Given the description of an element on the screen output the (x, y) to click on. 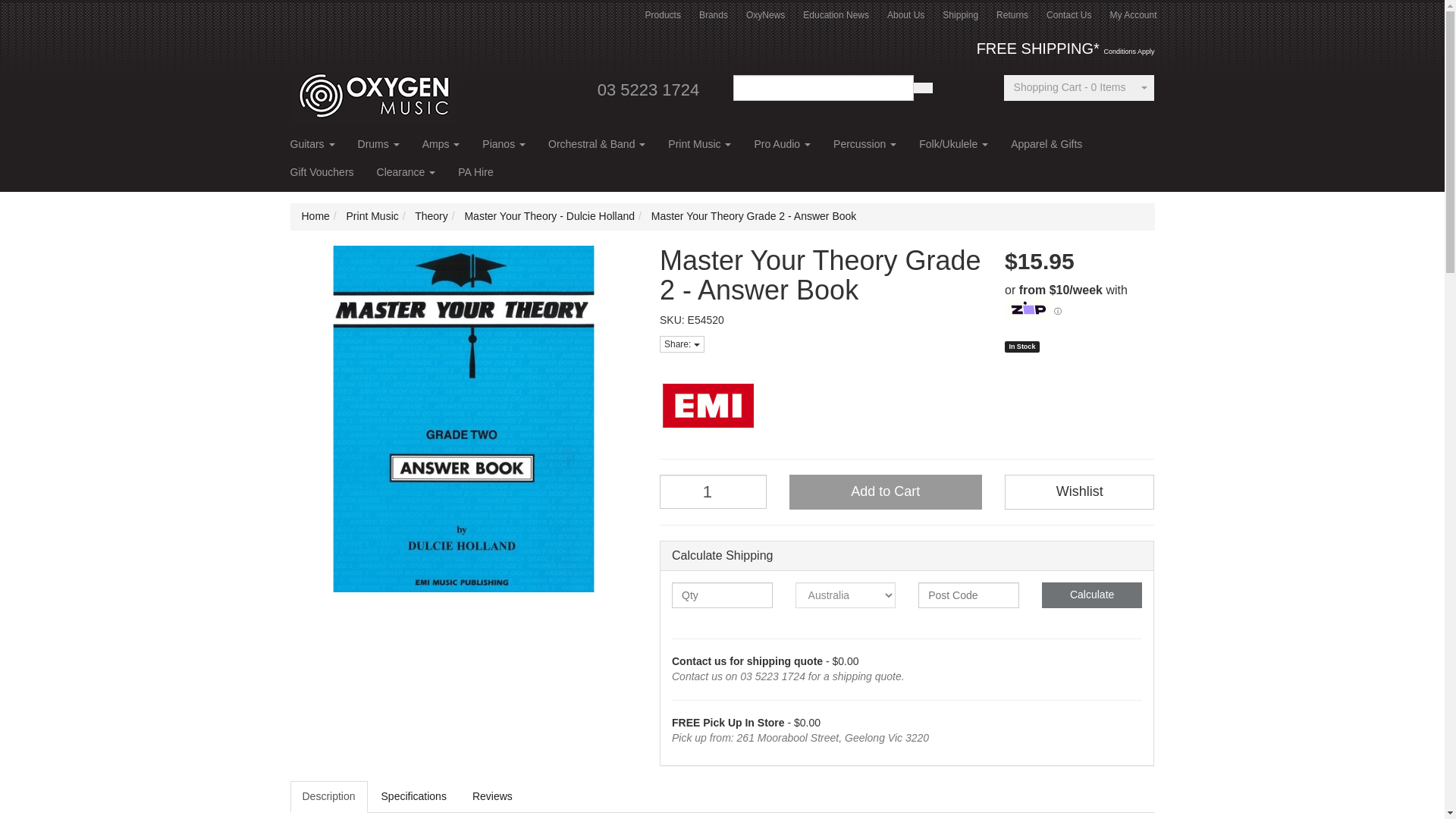
Search (922, 87)
Shipping (960, 15)
EMI (906, 405)
Products (663, 15)
Guitars (312, 148)
Shopping Cart - 0 Items (1069, 87)
Add to Cart (885, 492)
Returns (1011, 15)
Contact Us (1068, 15)
Brands (713, 15)
1 (713, 491)
Oxygen Music (373, 90)
Calculate (1092, 595)
My Account (1133, 15)
Education News (835, 15)
